Given the description of an element on the screen output the (x, y) to click on. 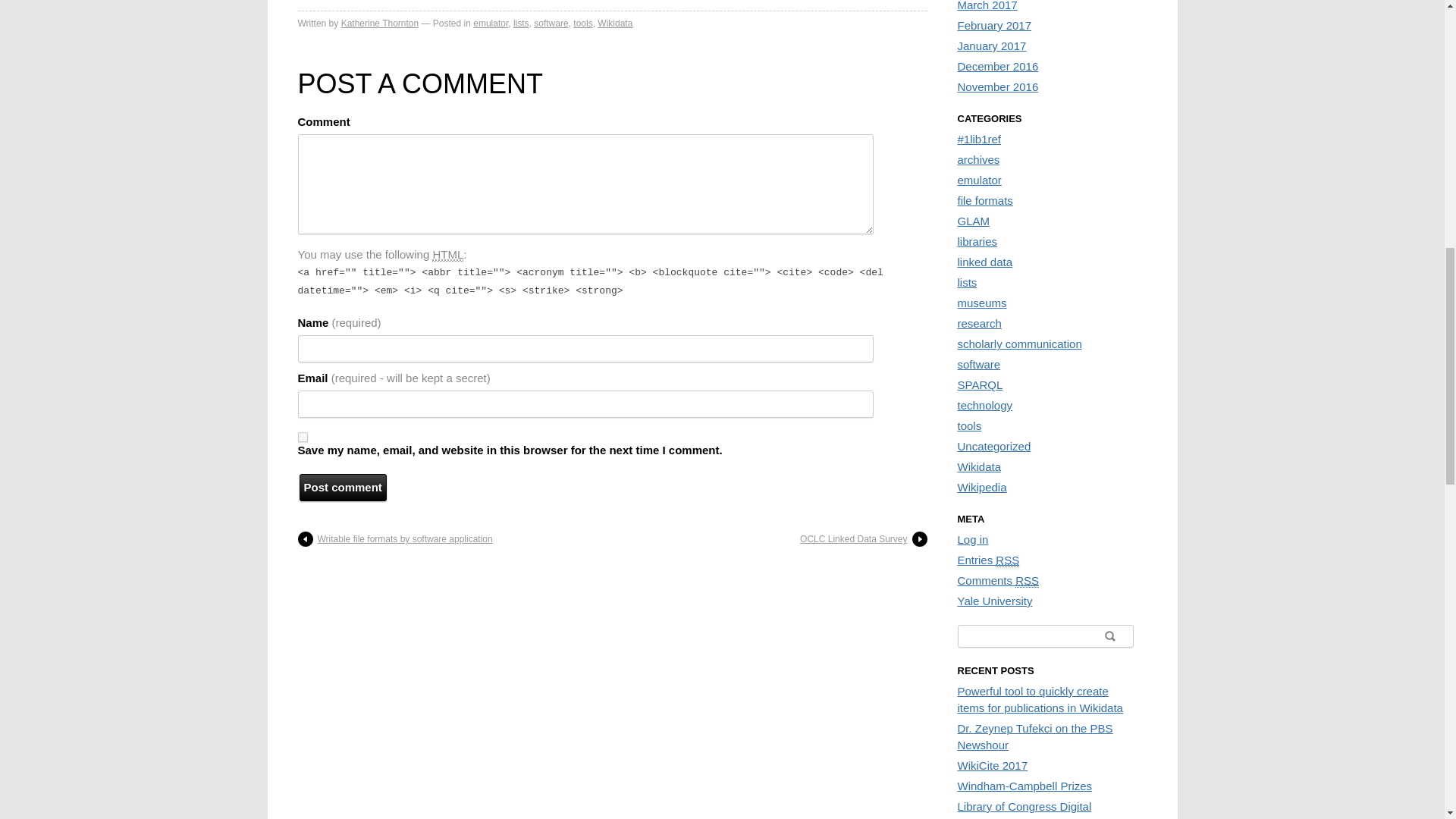
Katherine Thornton (379, 23)
March 2017 (986, 5)
Really Simple Syndication (1026, 581)
yes (302, 437)
tools (582, 23)
Powered by Yale University (994, 600)
Writable file formats by software application (394, 539)
emulator (490, 23)
February 2017 (993, 24)
Posts by Katherine Thornton (379, 23)
